Given the description of an element on the screen output the (x, y) to click on. 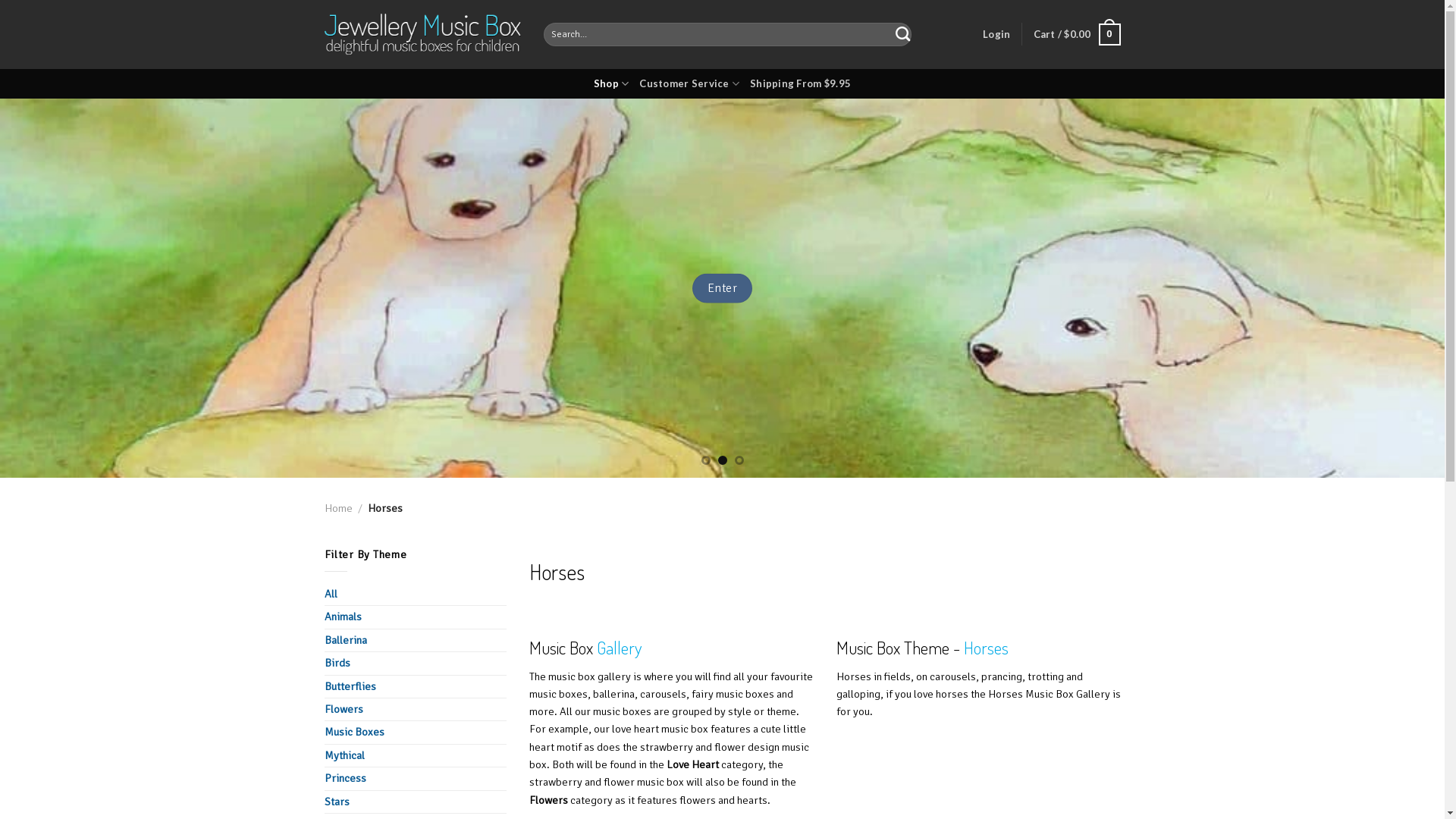
Skip to content Element type: text (0, 0)
Home Element type: text (338, 507)
Mythical Element type: text (415, 755)
Search Element type: text (902, 33)
Music Boxes Element type: text (415, 732)
Animals Element type: text (415, 616)
All Element type: text (415, 594)
Butterflies Element type: text (415, 686)
Ballerina Element type: text (415, 640)
Musical Jewellery Box Element type: hover (422, 34)
Shop Element type: text (611, 83)
Stars Element type: text (415, 801)
Enter Element type: text (722, 288)
Cart / $0.00
0 Element type: text (1076, 34)
Flowers Element type: text (415, 709)
Birds Element type: text (415, 663)
Login Element type: text (996, 34)
Shipping From $9.95 Element type: text (799, 83)
Customer Service Element type: text (689, 83)
Princess Element type: text (415, 778)
